Given the description of an element on the screen output the (x, y) to click on. 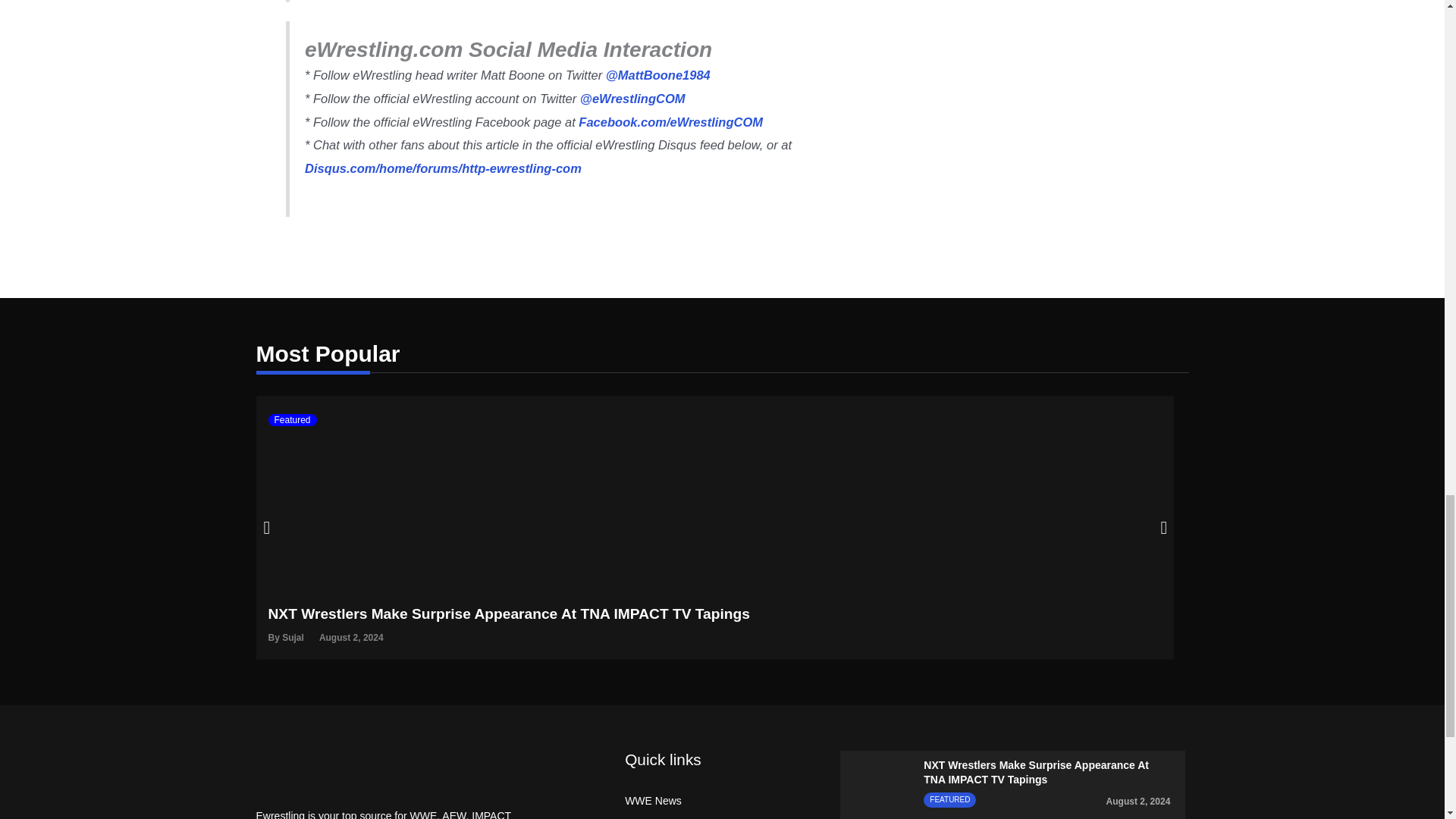
Posts by Sujal (292, 637)
